Given the description of an element on the screen output the (x, y) to click on. 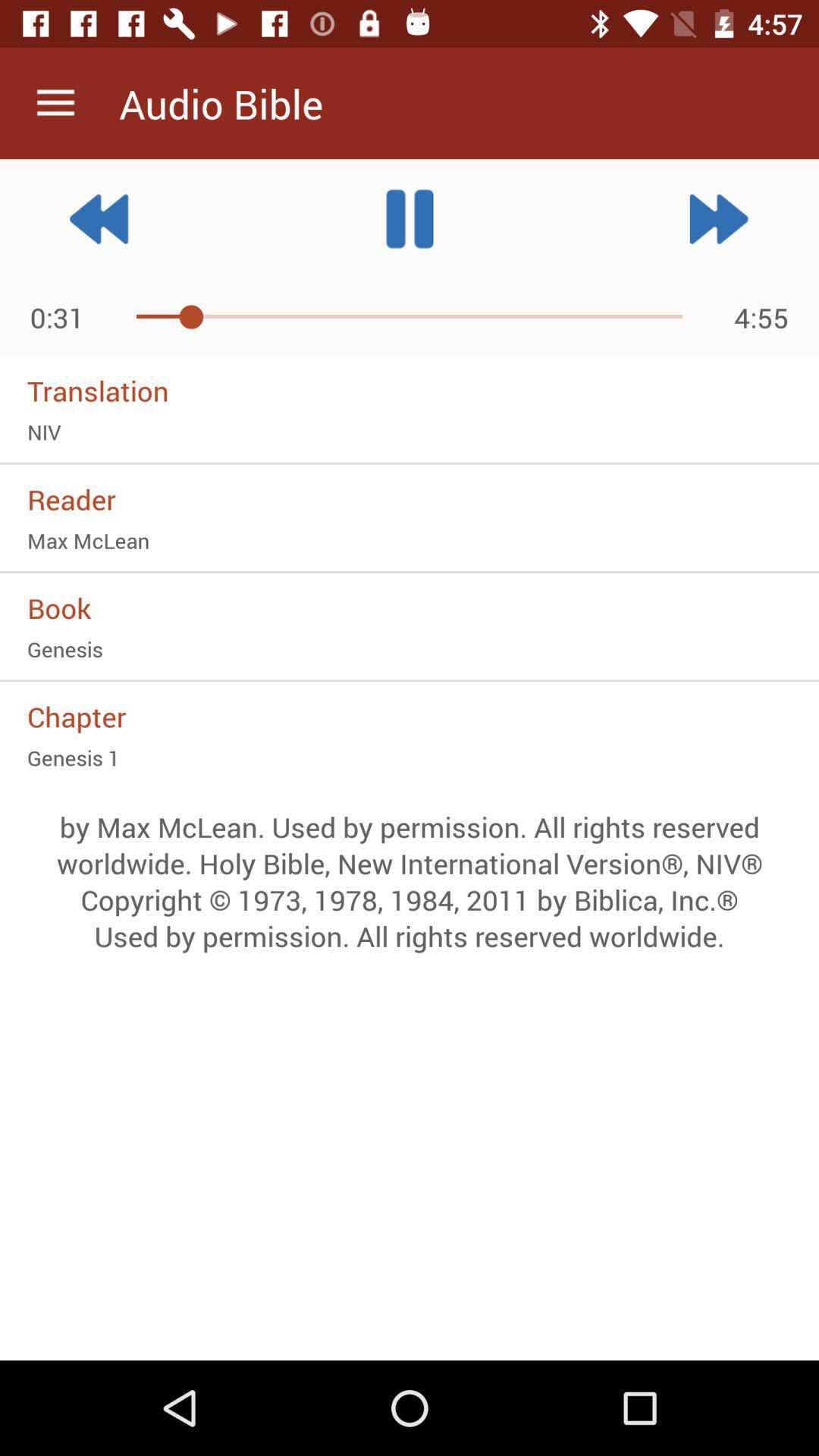
select the translation item (409, 390)
